Given the description of an element on the screen output the (x, y) to click on. 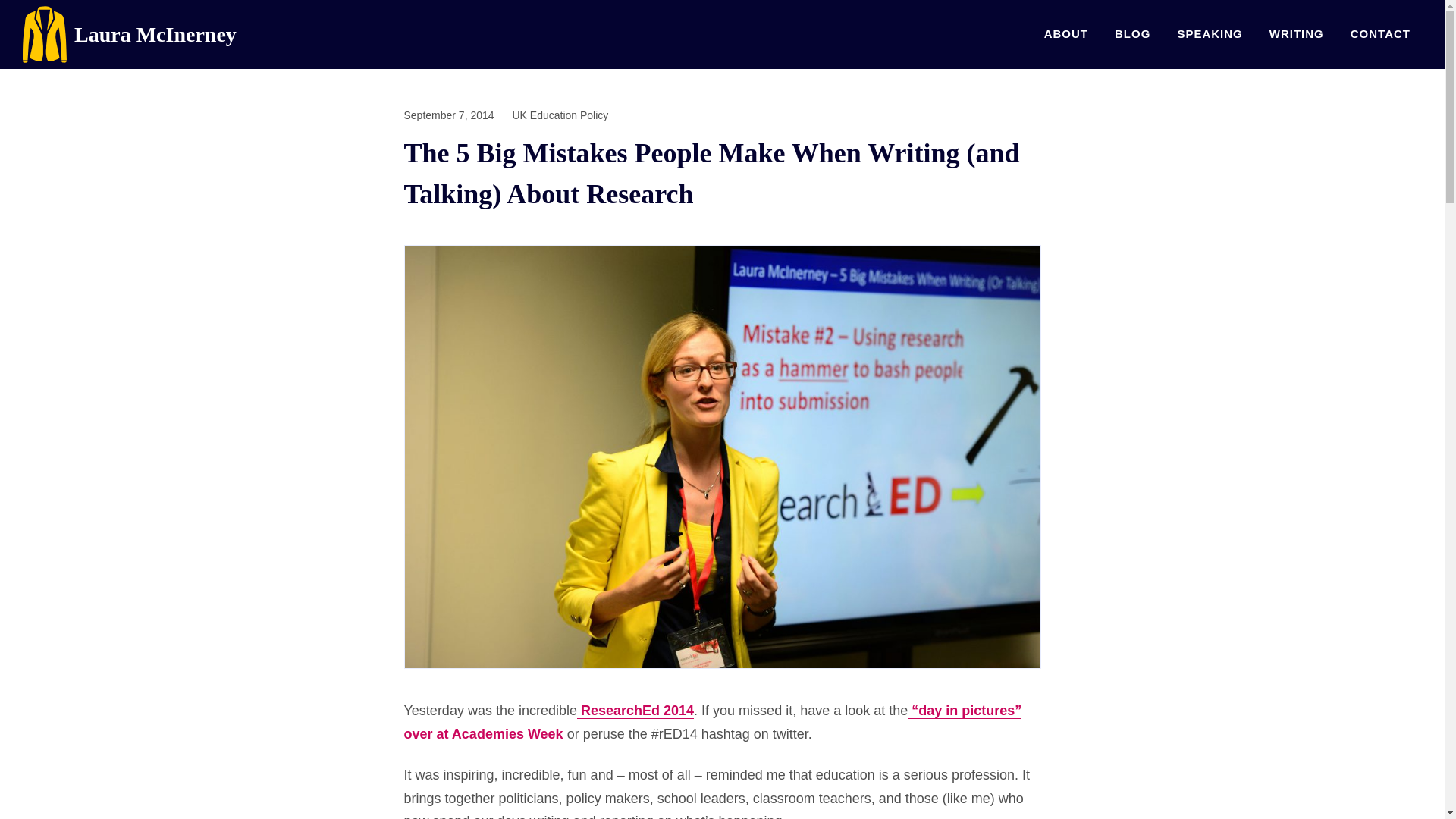
ResearchEd 2014 (635, 710)
UK Education Policy (560, 115)
September 7, 2014 (448, 115)
SPEAKING (1209, 33)
ABOUT (1065, 33)
WRITING (1296, 33)
BLOG (1132, 33)
CONTACT (1380, 33)
